Given the description of an element on the screen output the (x, y) to click on. 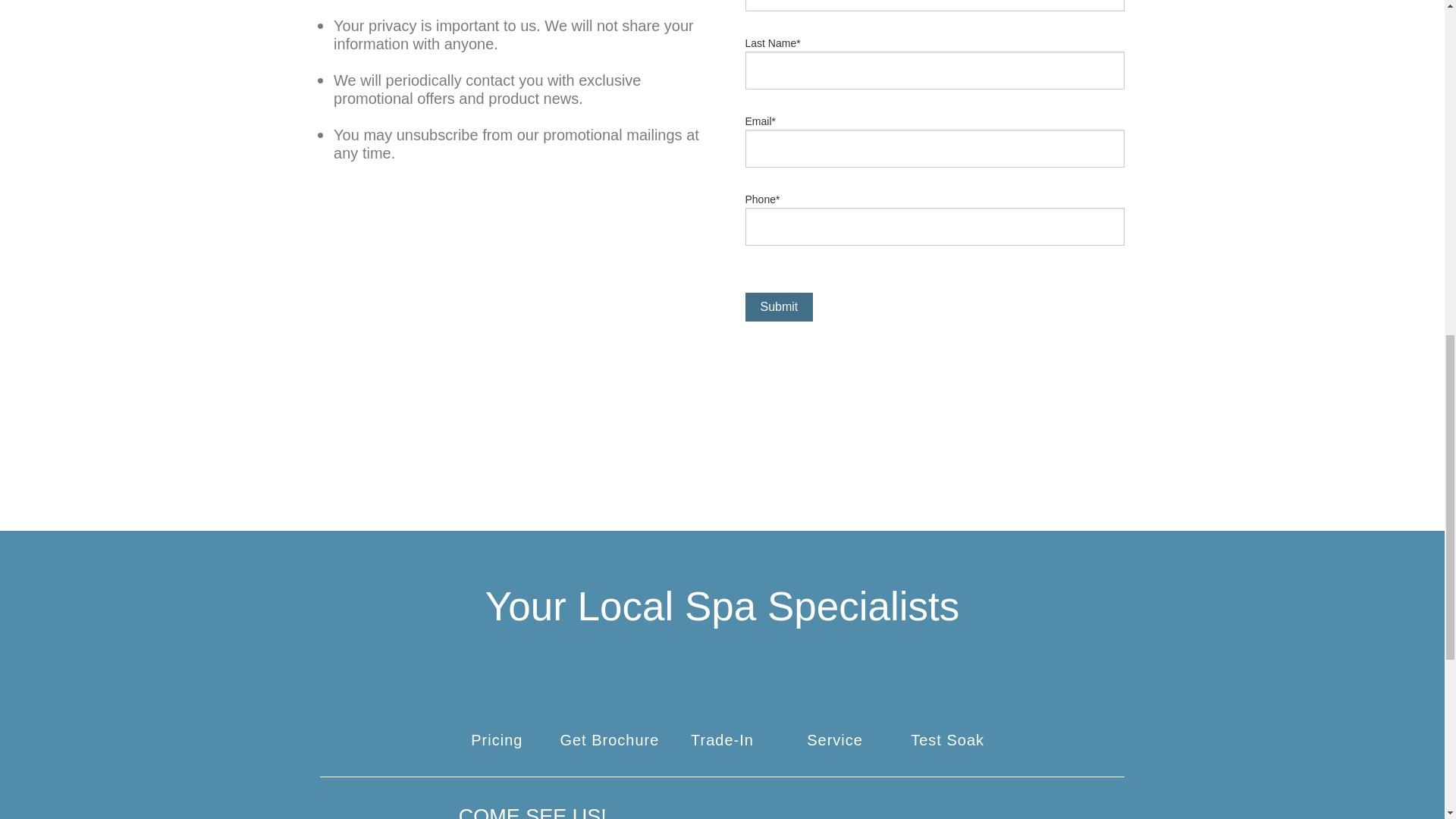
icon-Brochure (609, 743)
icon-Test-Soak (947, 743)
Submit (778, 337)
